Given the description of an element on the screen output the (x, y) to click on. 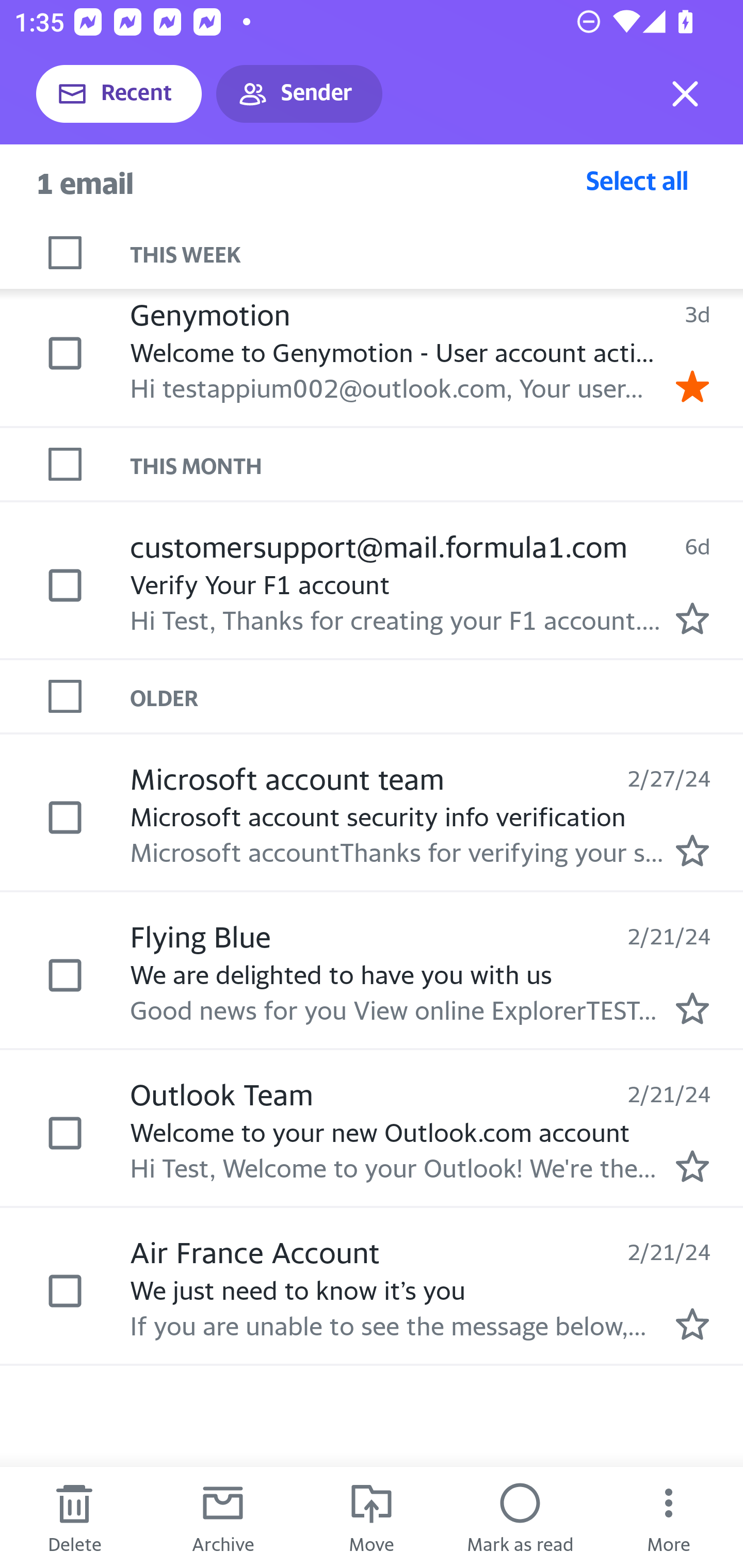
Sender (299, 93)
Exit selection mode (684, 93)
Select all (637, 180)
Remove star. (692, 386)
THIS MONTH (436, 464)
Mark as starred. (692, 618)
OLDER (436, 696)
Mark as starred. (692, 850)
Mark as starred. (692, 1008)
Mark as starred. (692, 1165)
Mark as starred. (692, 1324)
Delete (74, 1517)
Archive (222, 1517)
Move (371, 1517)
Mark as read (519, 1517)
More (668, 1517)
